Given the description of an element on the screen output the (x, y) to click on. 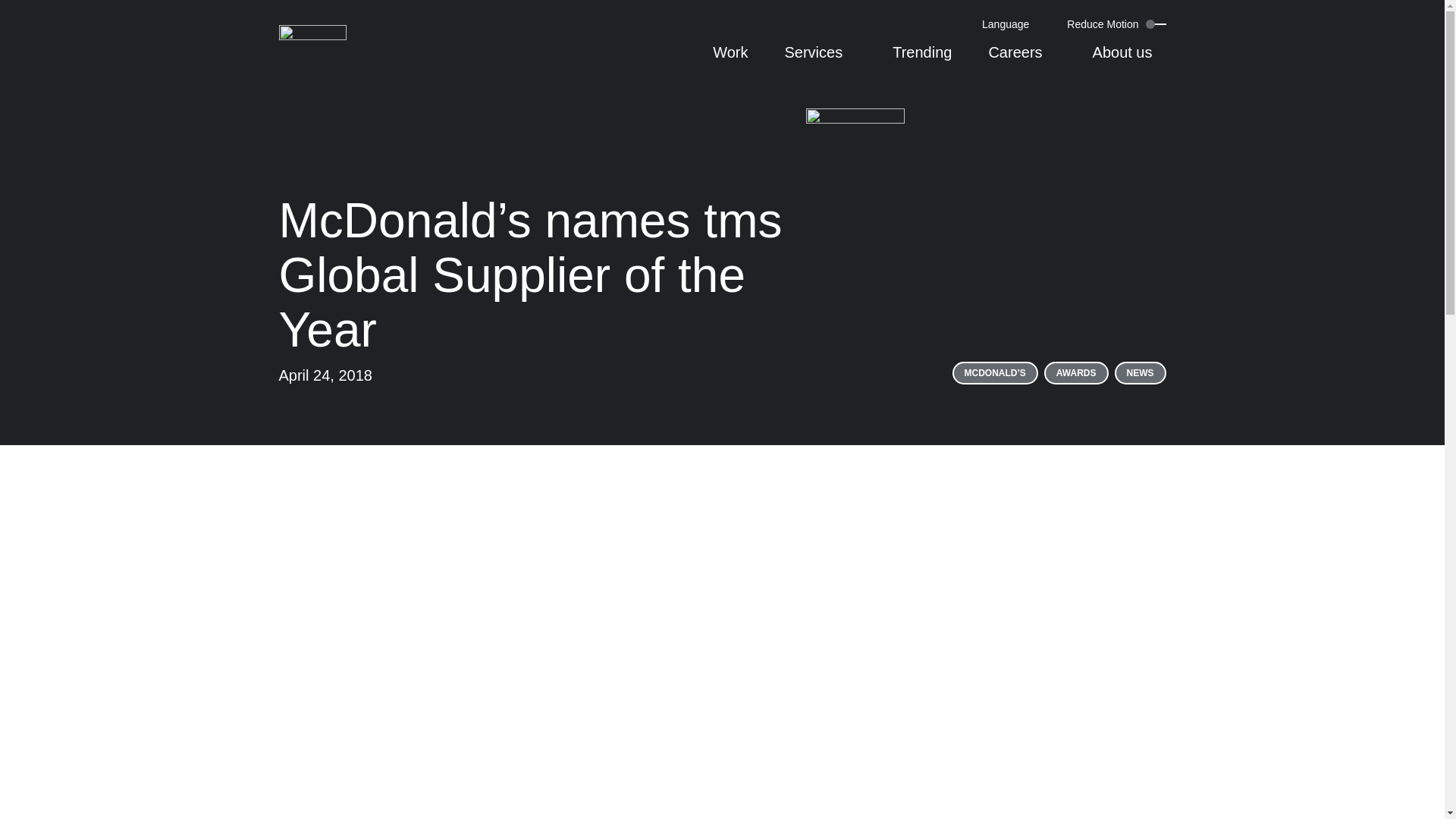
Trending (922, 59)
tms Home (313, 43)
About us (1129, 59)
Work (730, 59)
Language (1011, 24)
NEWS (1140, 372)
AWARDS (1075, 372)
Services (820, 59)
Careers (1021, 59)
on (1144, 24)
